Given the description of an element on the screen output the (x, y) to click on. 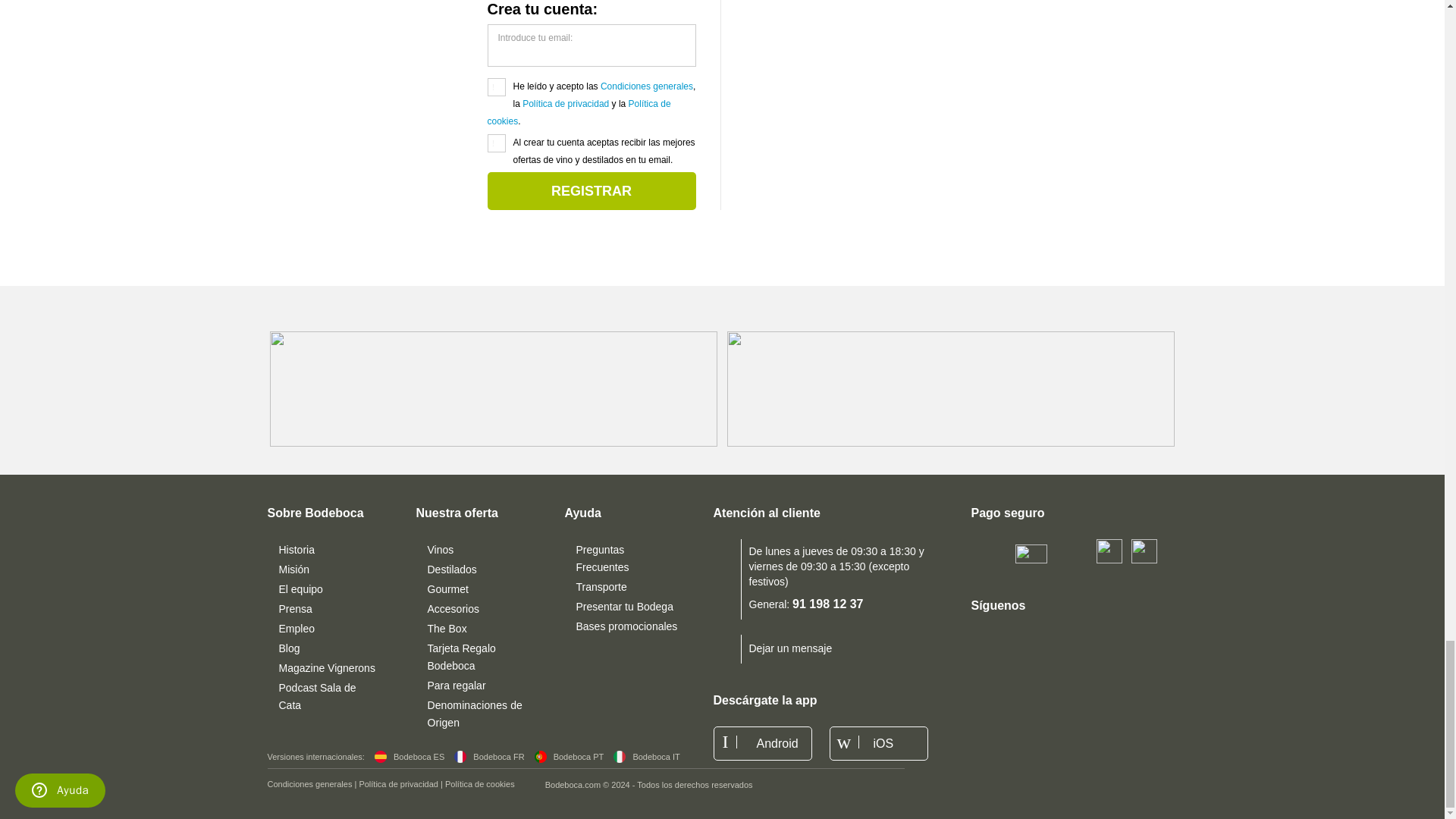
1 (495, 143)
1 (495, 86)
Registrar (590, 190)
